Given the description of an element on the screen output the (x, y) to click on. 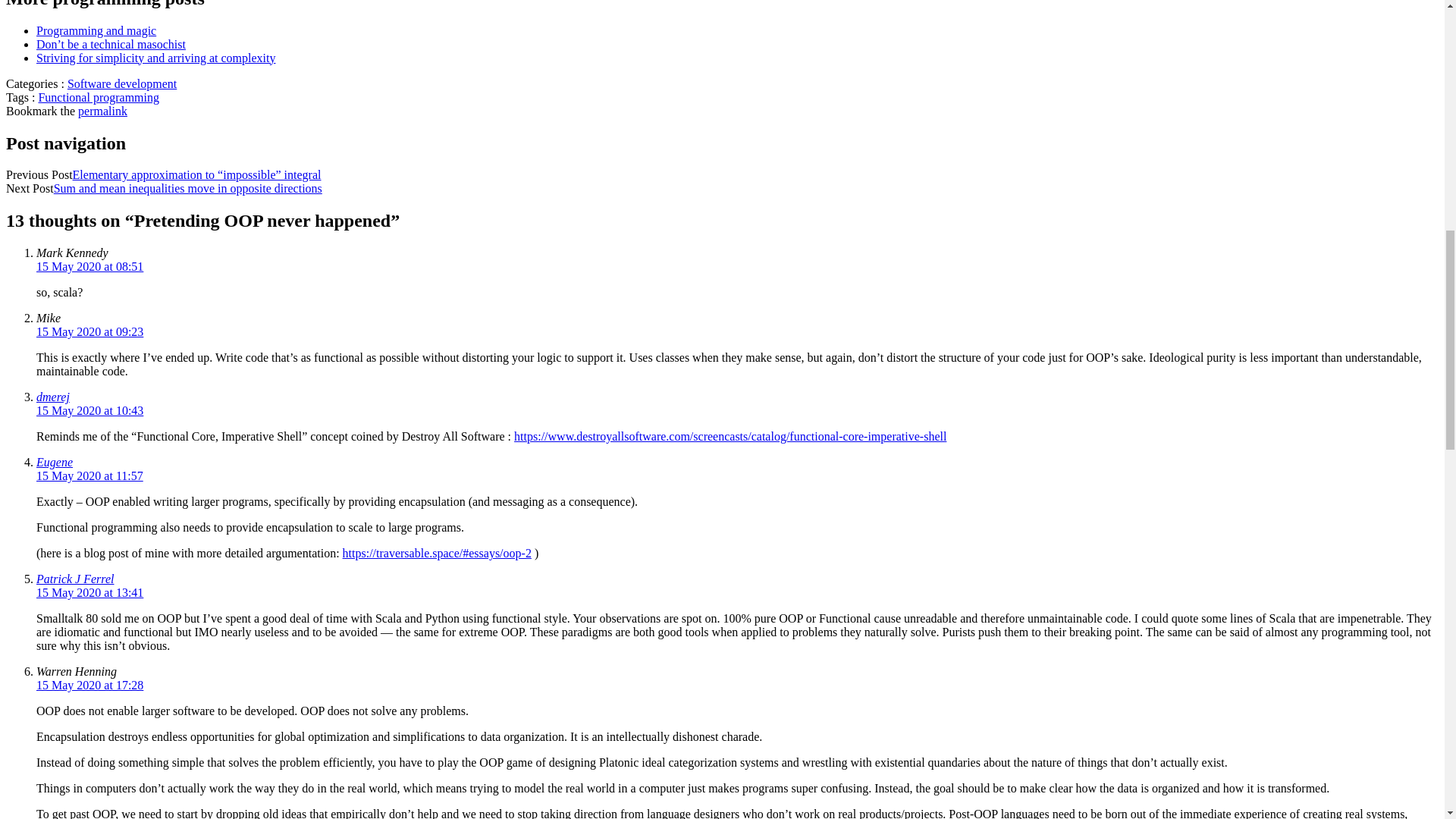
Permalink to Pretending OOP never happened (103, 110)
Striving for simplicity and arriving at complexity (156, 57)
Programming and magic (95, 30)
